Given the description of an element on the screen output the (x, y) to click on. 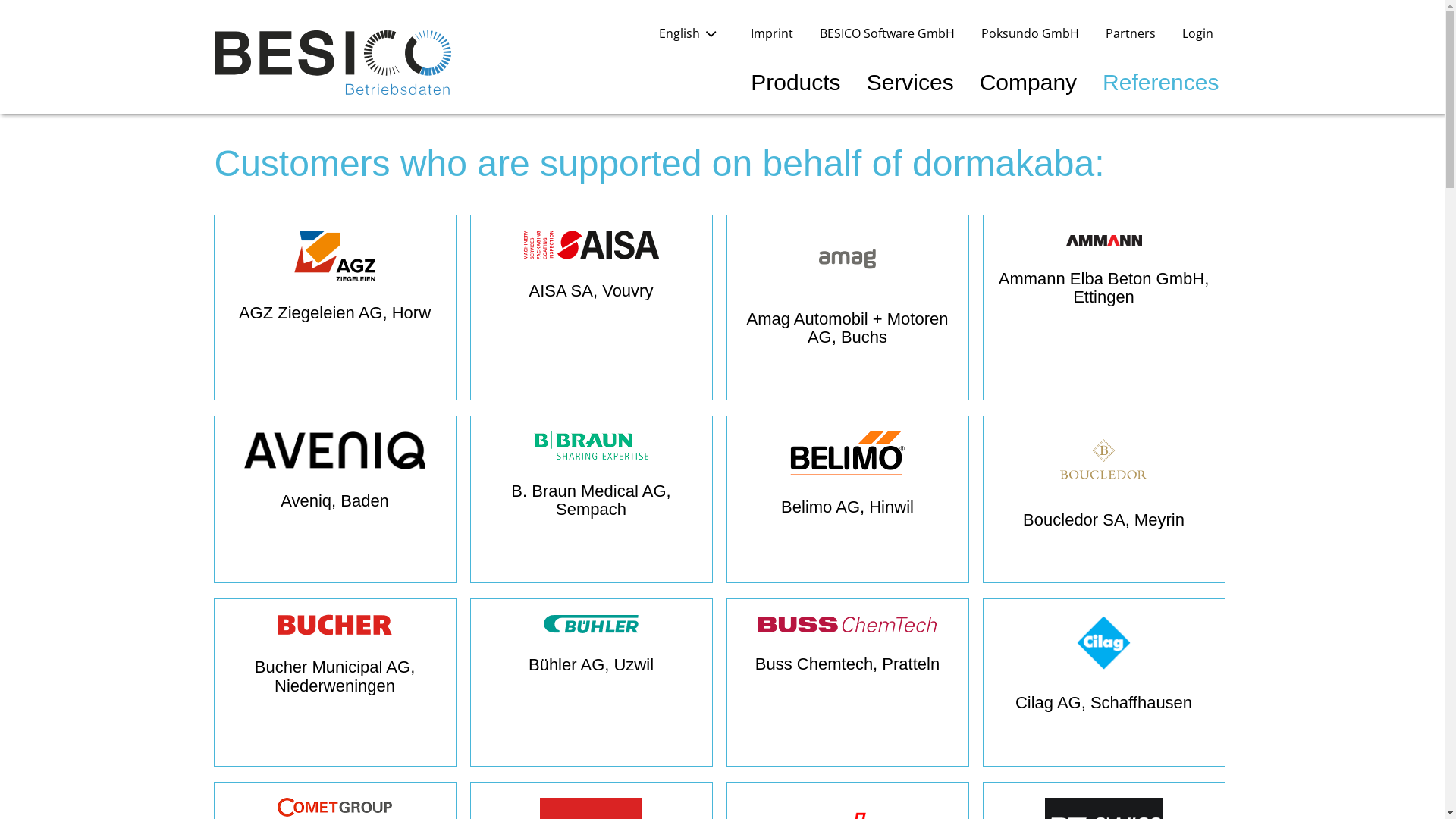
Imprint Element type: text (771, 32)
References Element type: text (1160, 82)
English Element type: text (690, 32)
Partners Element type: text (1130, 32)
Services Element type: text (910, 82)
Poksundo GmbH Element type: text (1030, 32)
Login Element type: text (1196, 32)
BESICO Software GmbH Element type: text (886, 32)
Products Element type: text (795, 82)
Company Element type: text (1028, 82)
